Given the description of an element on the screen output the (x, y) to click on. 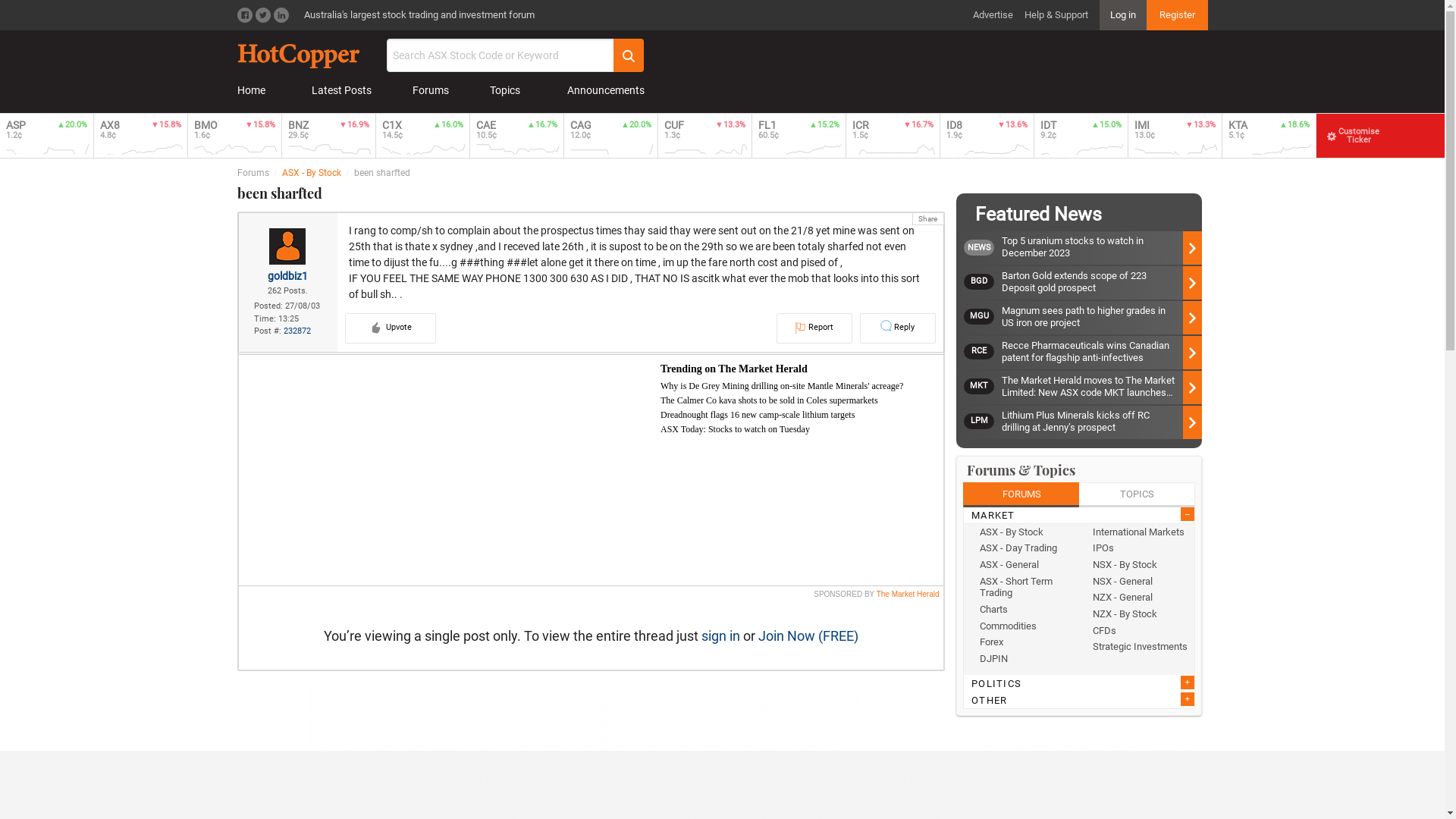
Help & Support Element type: text (1055, 14)
LPM Element type: text (982, 421)
Top 5 uranium stocks to watch in December 2023 Element type: text (1101, 246)
Join Now (FREE) Element type: text (808, 635)
twitter Created with Sketch. Element type: text (261, 14)
ASX - By Stock Element type: text (311, 172)
ASX - General Element type: text (1026, 564)
Report Created with Sketch.
 Report Element type: text (814, 327)
The Market Herald Element type: text (907, 593)
Share Element type: text (927, 218)
sign in Element type: text (719, 635)
TOPICS Element type: text (1137, 494)
Forex Element type: text (1026, 641)
search Created with Sketch. Element type: text (627, 55)
3rd party ad content Element type: hover (931, 65)
goldbiz1 Element type: text (287, 275)
Home Element type: text (253, 90)
Announcements Element type: text (602, 90)
MKT Element type: text (982, 386)
Stroke 3 Created with Sketch.
Reply Element type: text (897, 327)
Commodities Element type: text (1026, 625)
Barton Gold extends scope of 223 Deposit gold prospect Element type: text (1101, 281)
Advertise Element type: text (992, 14)
Forums Element type: text (433, 90)
DJPIN Element type: text (1026, 658)
BGD Element type: text (982, 281)
facebook Created with Sketch. Element type: text (243, 14)
ASX - Short Term Trading Element type: text (1026, 587)
NSX - By Stock Element type: text (1139, 564)
Log in Element type: text (1122, 15)
NZX - By Stock Element type: text (1139, 613)
3rd party ad content Element type: hover (583, 720)
Likes Created with Sketch.
 Upvote Element type: text (389, 327)
IPOs Element type: text (1139, 547)
NSX - General Element type: text (1139, 581)
Register Element type: text (1177, 15)
Latest Posts Element type: text (341, 90)
CFDs Element type: text (1139, 629)
MGU Element type: text (982, 316)
ASX - Day Trading Element type: text (1026, 547)
NZX - General Element type: text (1139, 597)
FORUMS Element type: text (1021, 494)
Topics Element type: text (507, 90)
linkedin Created with Sketch. Element type: text (280, 14)
International Markets Element type: text (1139, 532)
232872 Element type: text (296, 330)
RCE Element type: text (982, 351)
Charts Element type: text (1026, 609)
ASX - By Stock Element type: text (1026, 532)
Magnum sees path to higher grades in US iron ore project Element type: text (1101, 316)
Strategic Investments Element type: text (1139, 646)
